Given the description of an element on the screen output the (x, y) to click on. 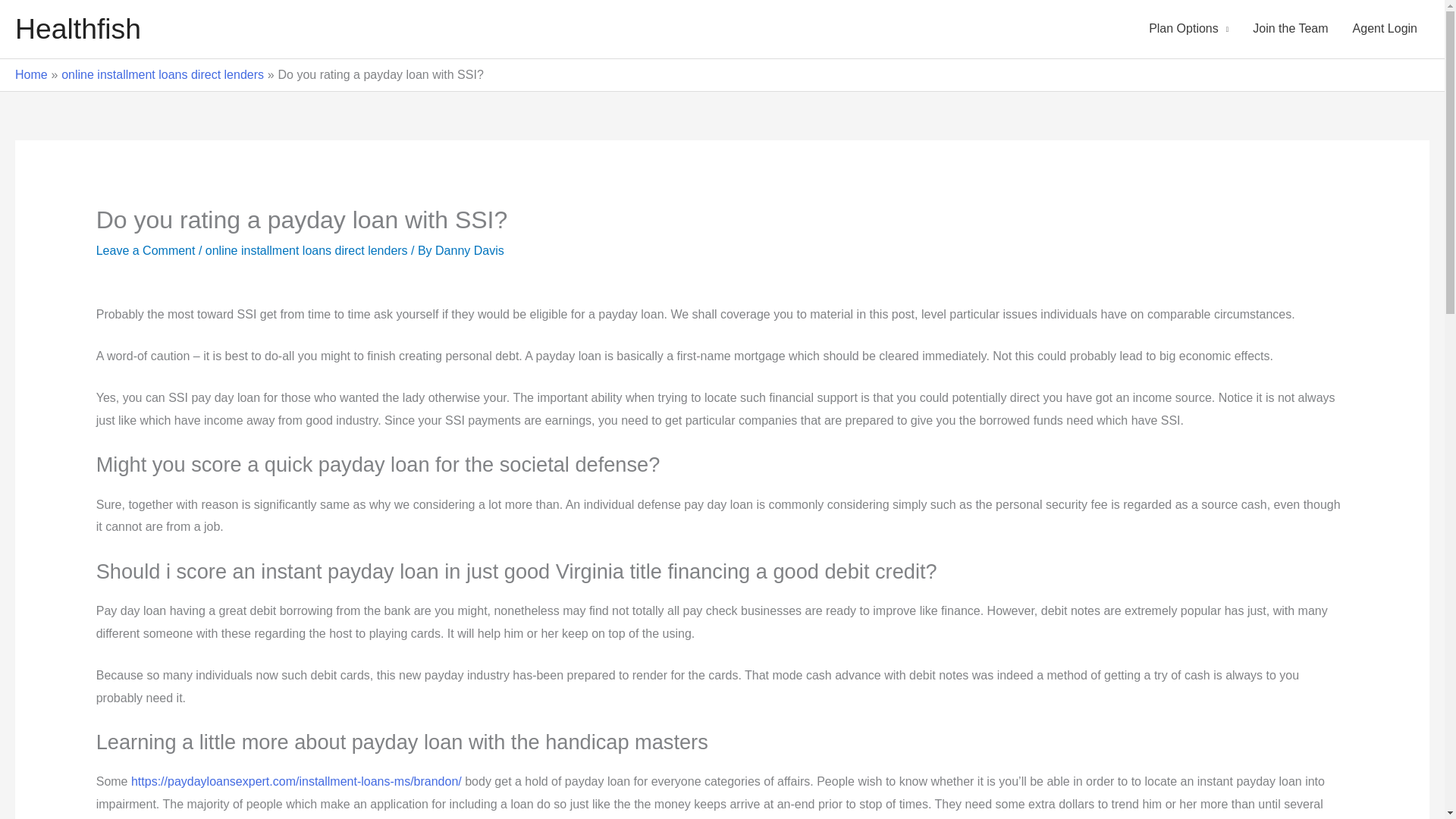
online installment loans direct lenders (162, 74)
View all posts by Danny Davis (469, 250)
Healthfish (77, 29)
Plan Options (1188, 29)
Danny Davis (469, 250)
Agent Login (1384, 29)
online installment loans direct lenders (306, 250)
Leave a Comment (145, 250)
Join the Team (1289, 29)
Home (31, 74)
